Given the description of an element on the screen output the (x, y) to click on. 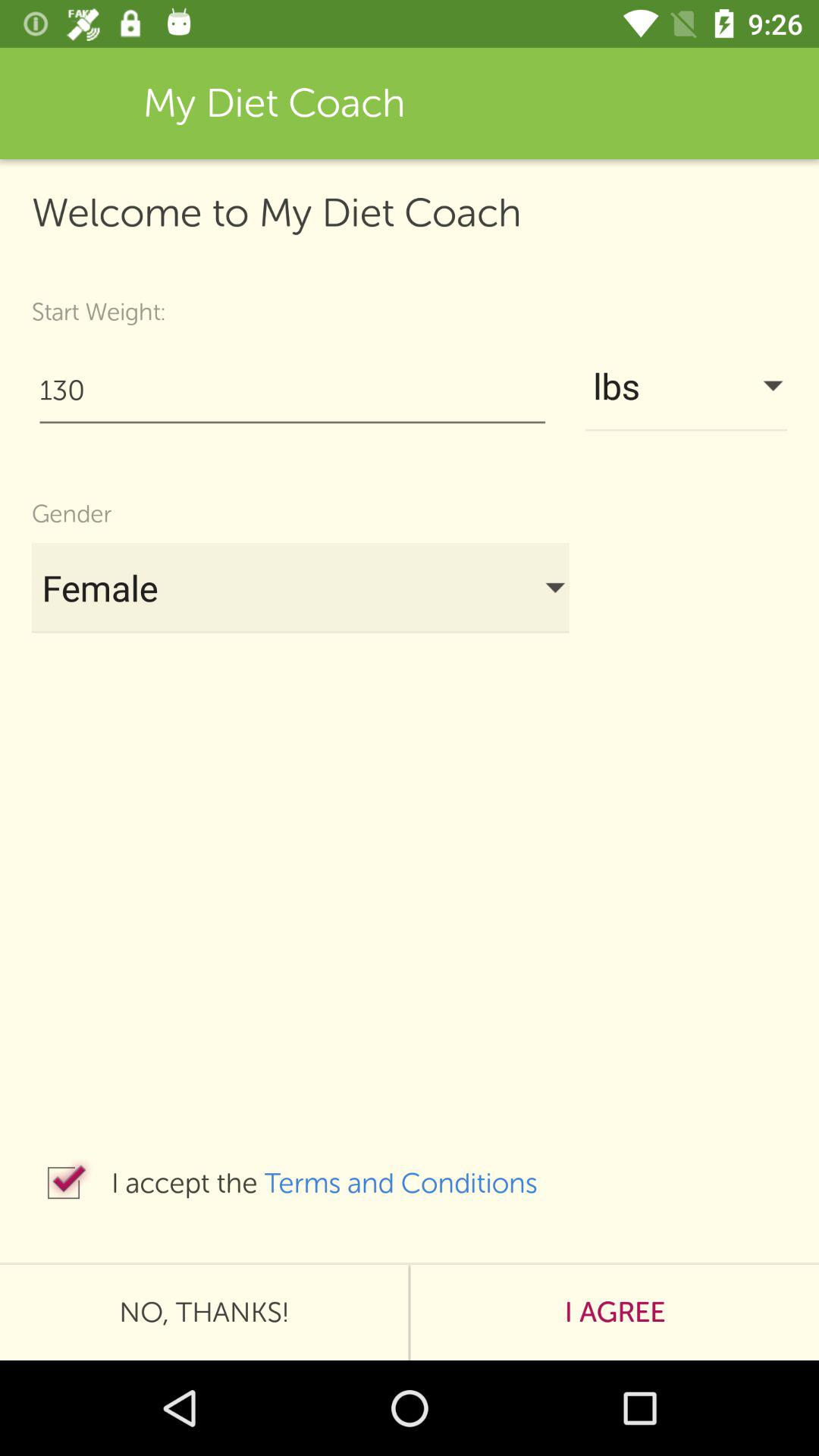
launch the icon below the female icon (63, 1182)
